Given the description of an element on the screen output the (x, y) to click on. 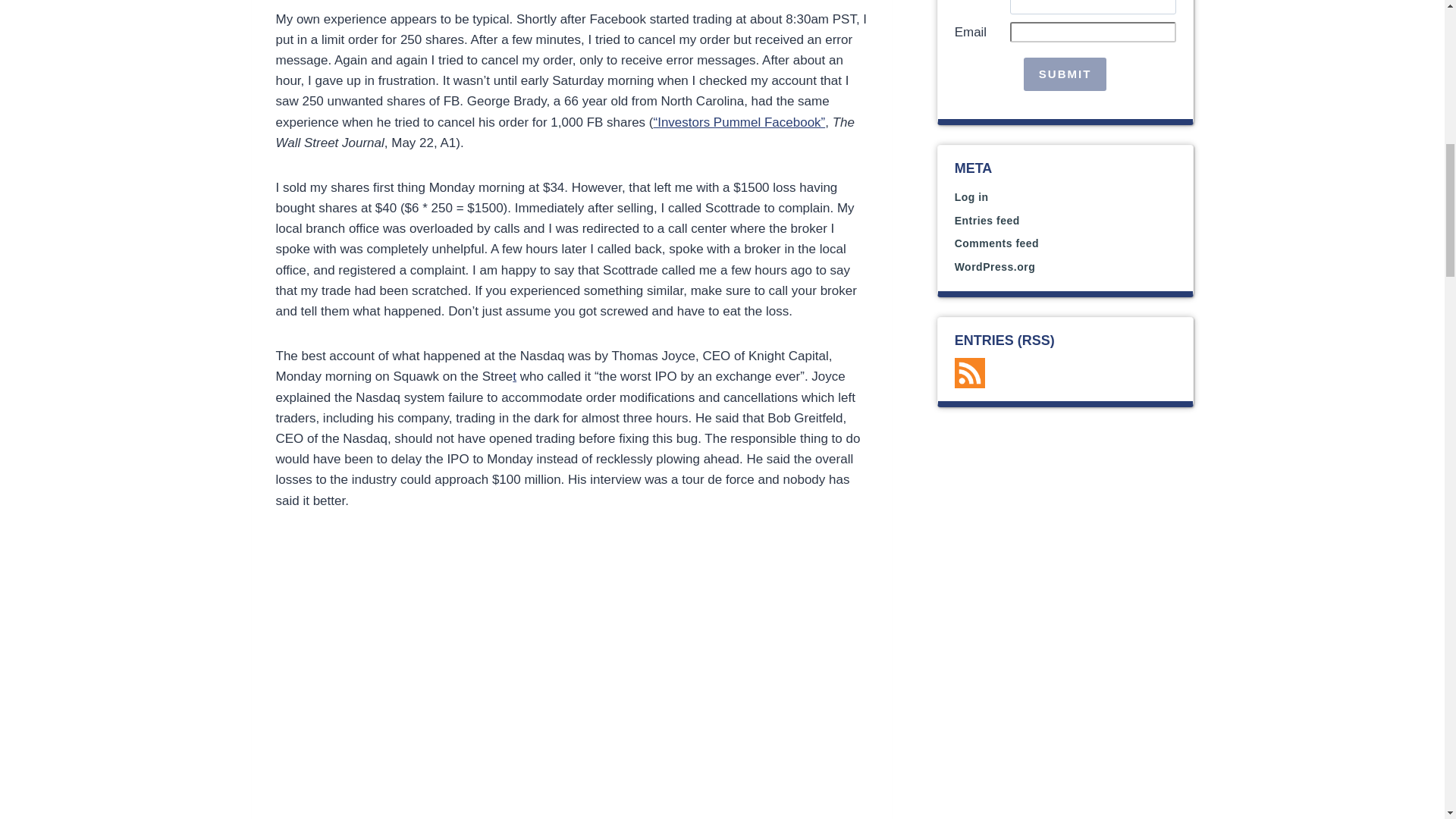
Submit (1064, 73)
